Given the description of an element on the screen output the (x, y) to click on. 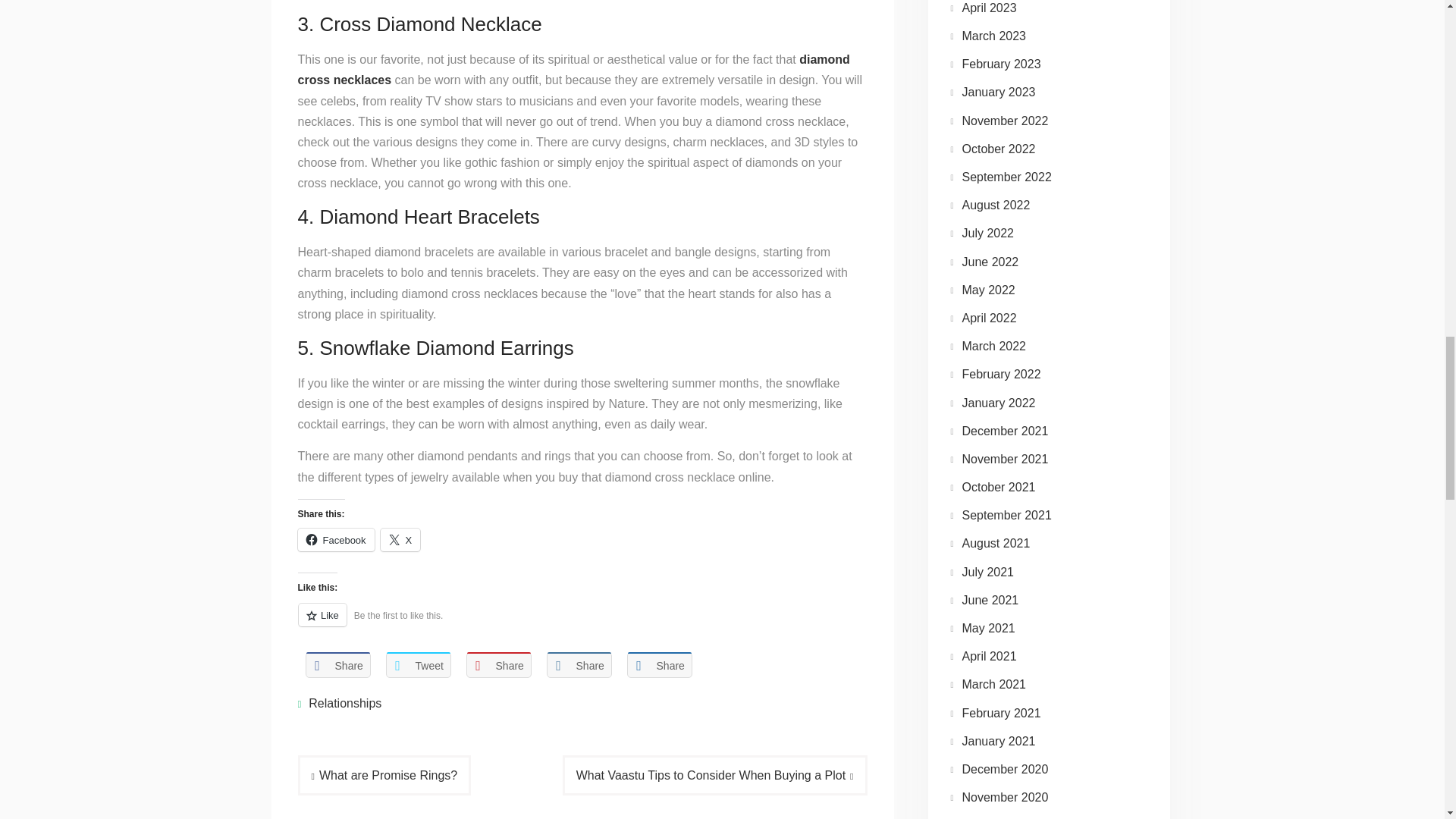
Relationships (344, 703)
Click to share on Facebook (335, 539)
X (400, 539)
Click to share on X (400, 539)
Facebook (335, 539)
What Vaastu Tips to Consider When Buying a Plot (714, 775)
Share on Twitter (417, 664)
Share on LinkedIn (578, 664)
Share on Digg (658, 664)
Like or Reblog (581, 623)
Share on Pinterest (498, 664)
Share (336, 664)
Share (498, 664)
Share (578, 664)
diamond cross necklaces (572, 69)
